Given the description of an element on the screen output the (x, y) to click on. 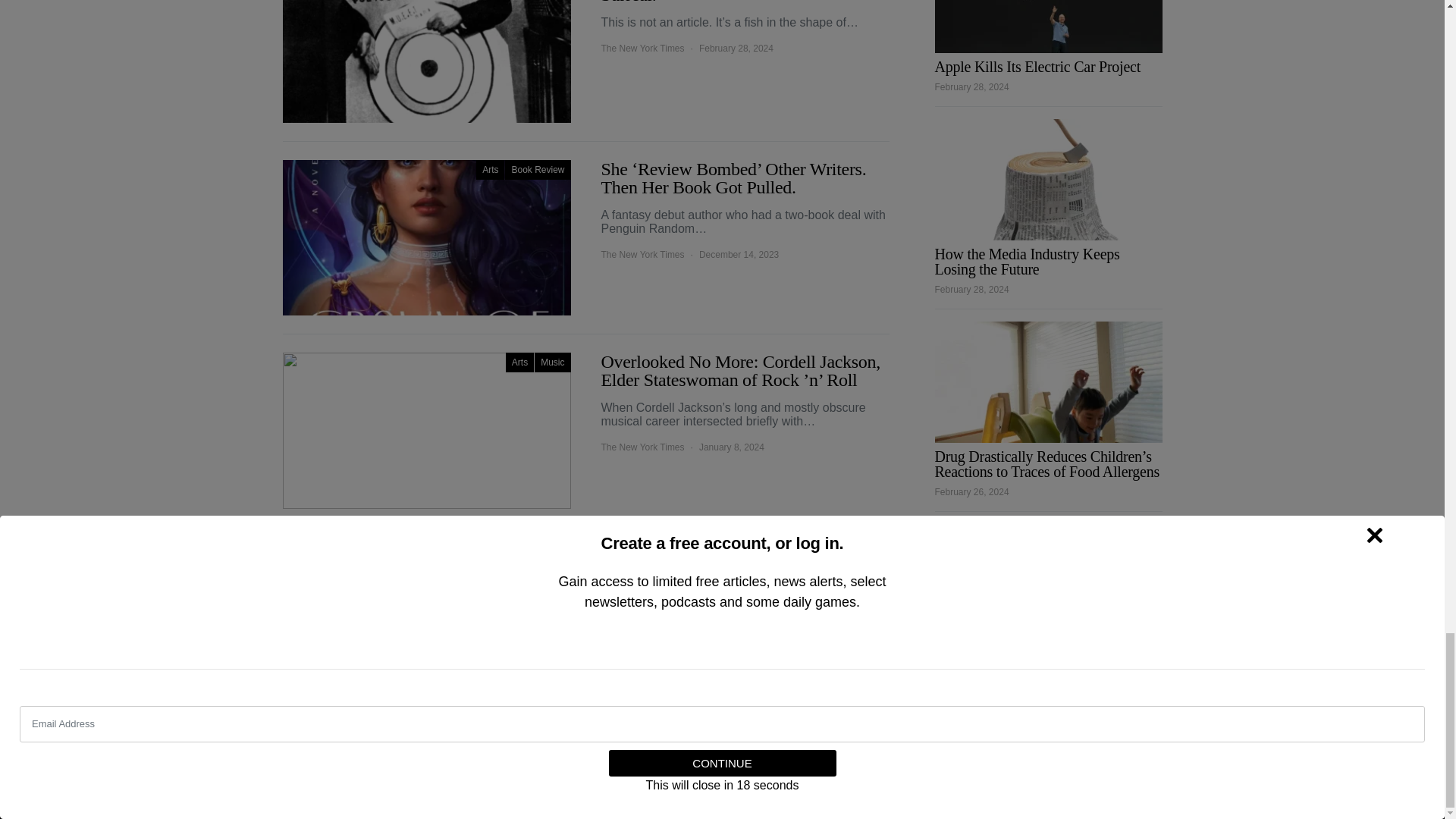
View all posts by The New York Times (641, 447)
View all posts by The New York Times (641, 254)
View all posts by The New York Times (641, 48)
View all posts by The New York Times (641, 622)
